Given the description of an element on the screen output the (x, y) to click on. 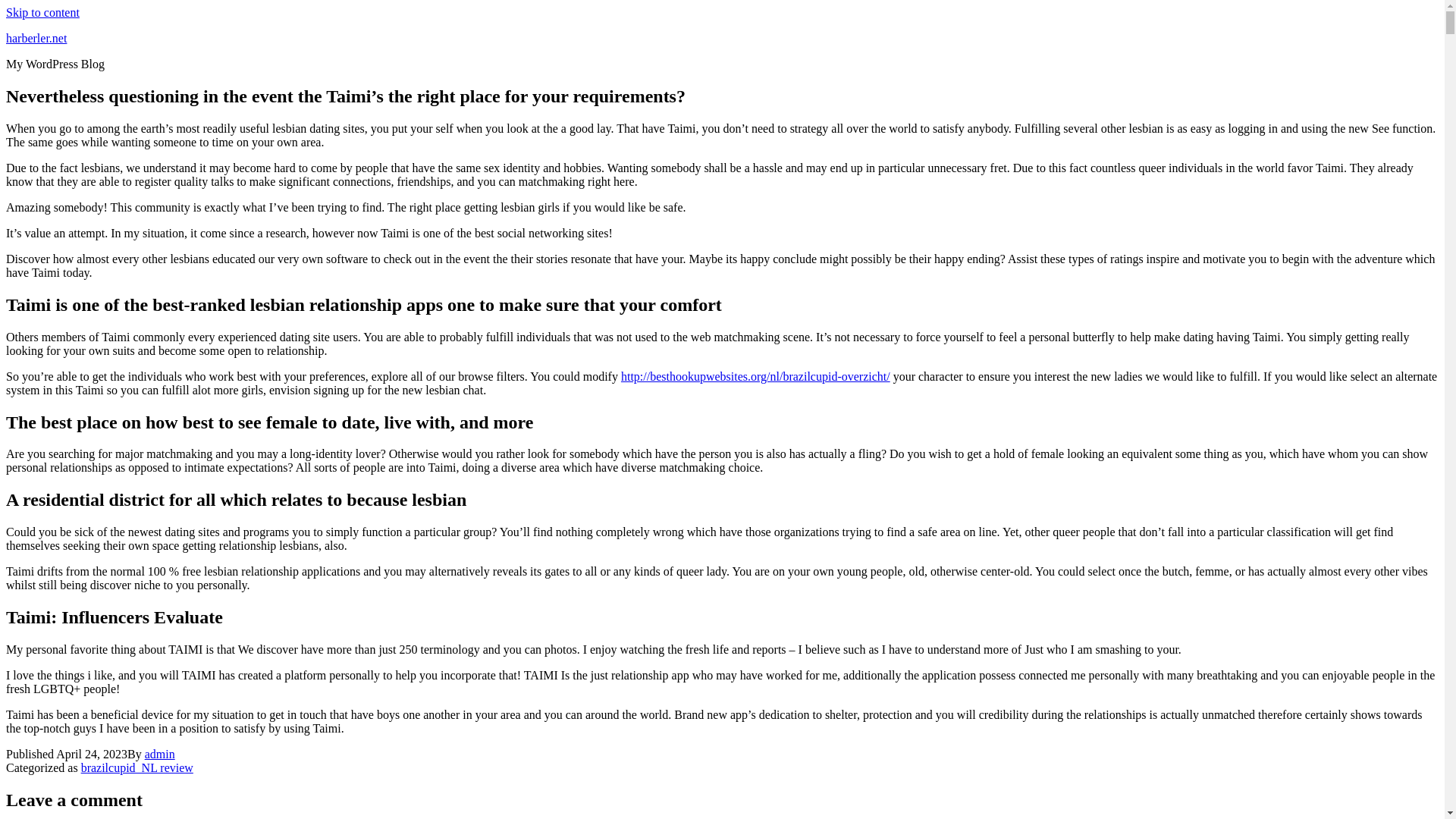
admin (159, 753)
Skip to content (42, 11)
harberler.net (35, 38)
